Given the description of an element on the screen output the (x, y) to click on. 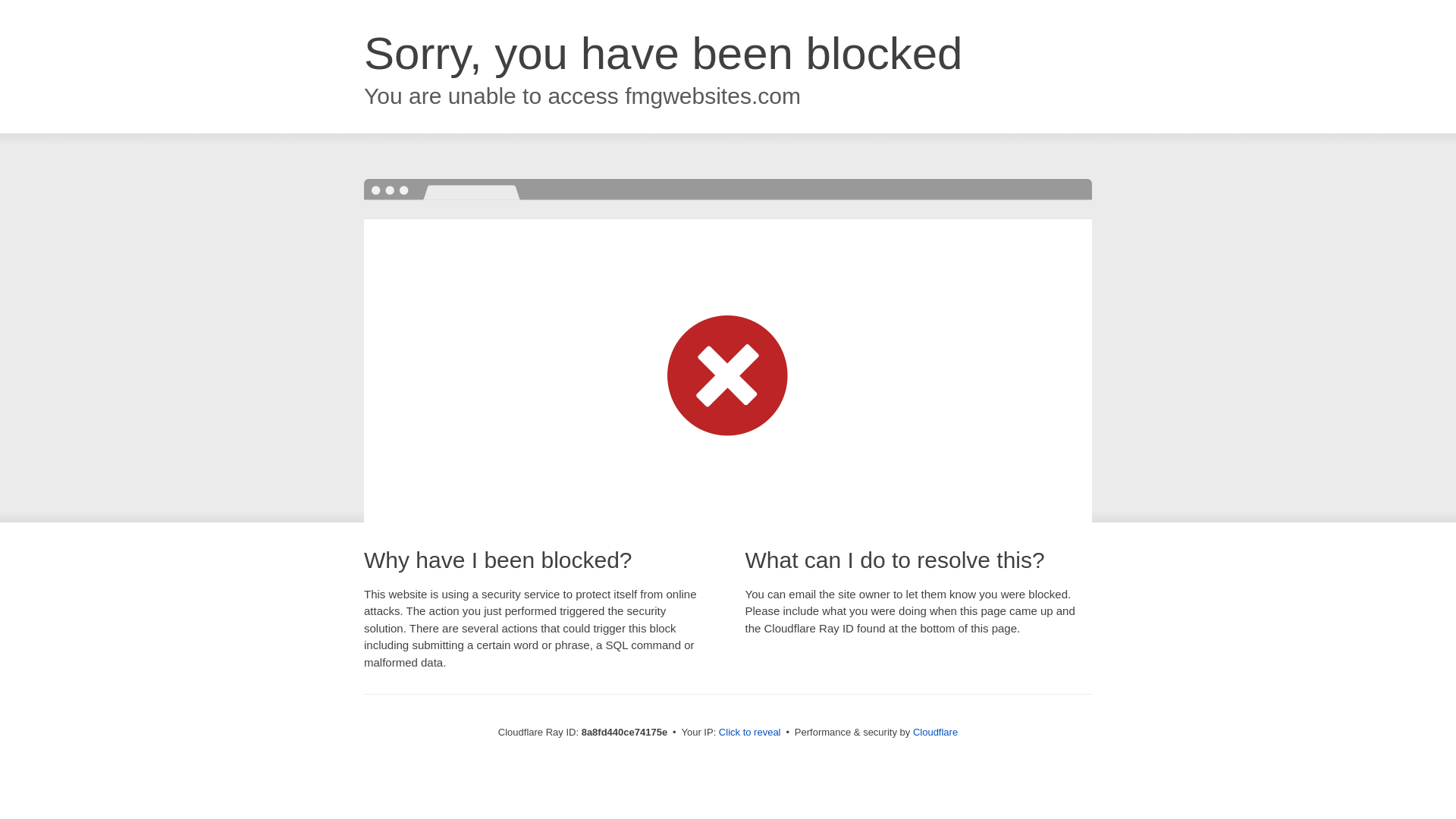
Click to reveal (749, 732)
Cloudflare (935, 731)
